Given the description of an element on the screen output the (x, y) to click on. 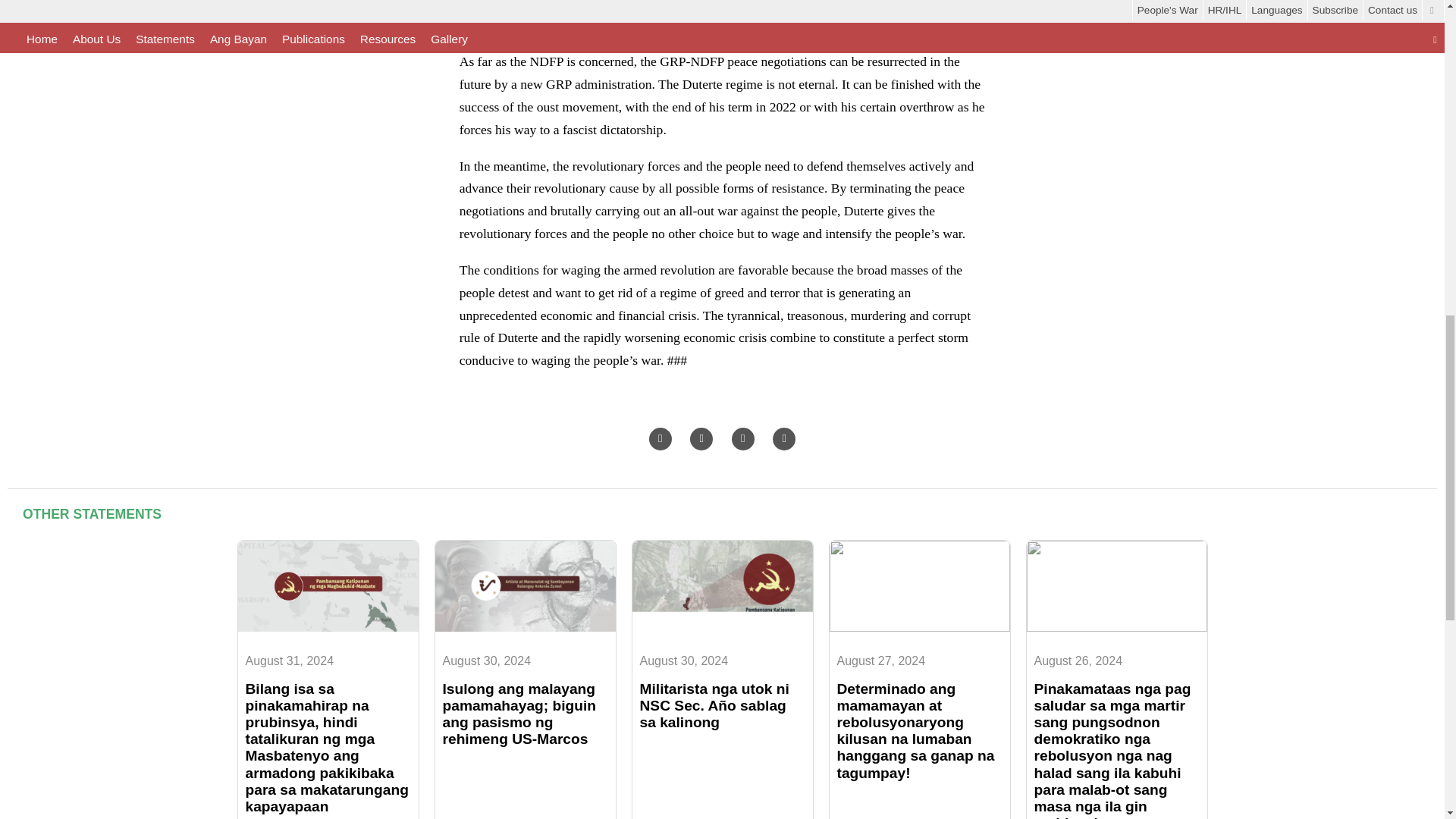
Share via Whatsapp (783, 438)
Share via Email (660, 438)
Share via Facebook (743, 438)
Share via Twitter (701, 438)
